Given the description of an element on the screen output the (x, y) to click on. 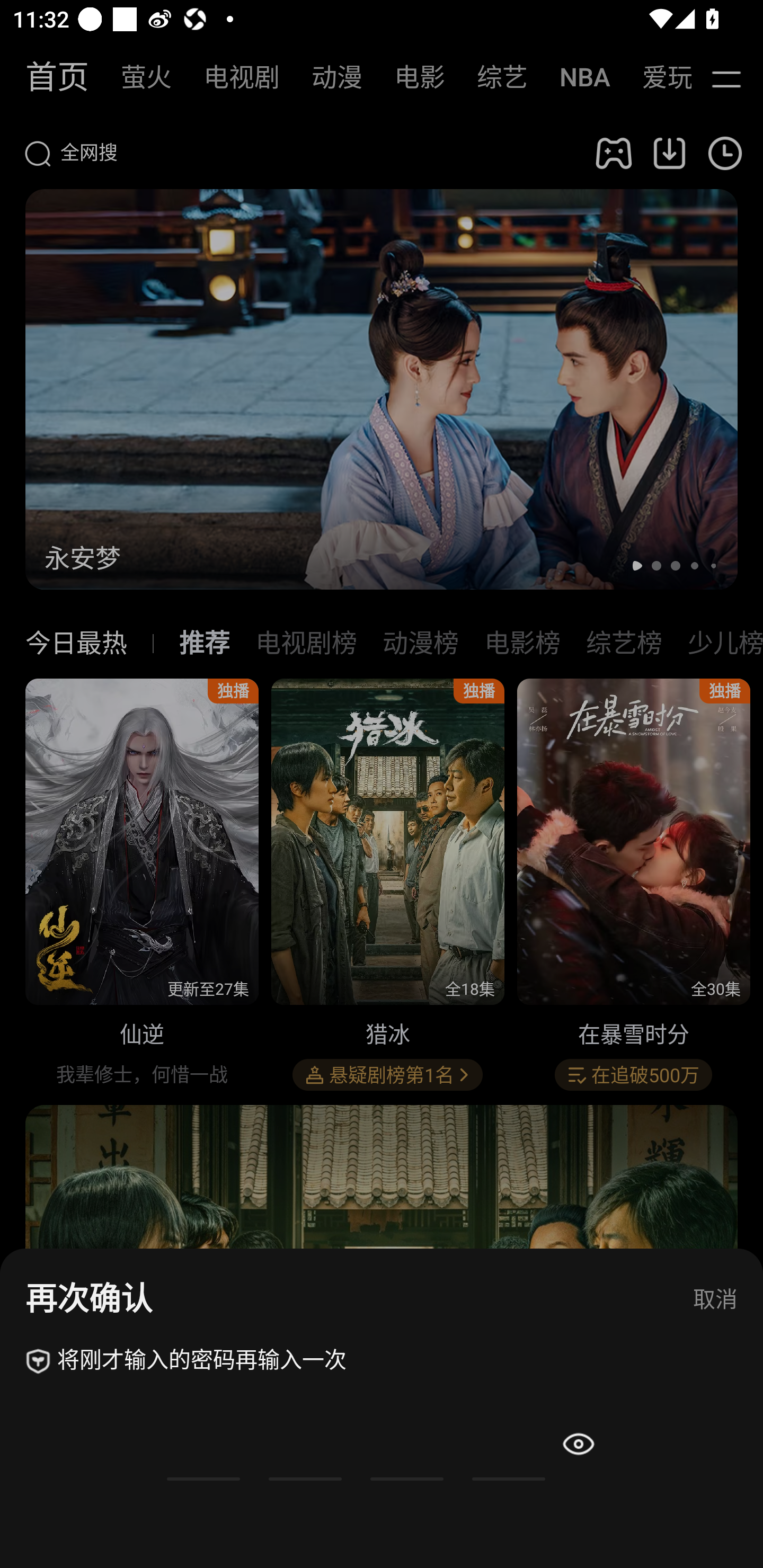
取消 (714, 1299)
